Given the description of an element on the screen output the (x, y) to click on. 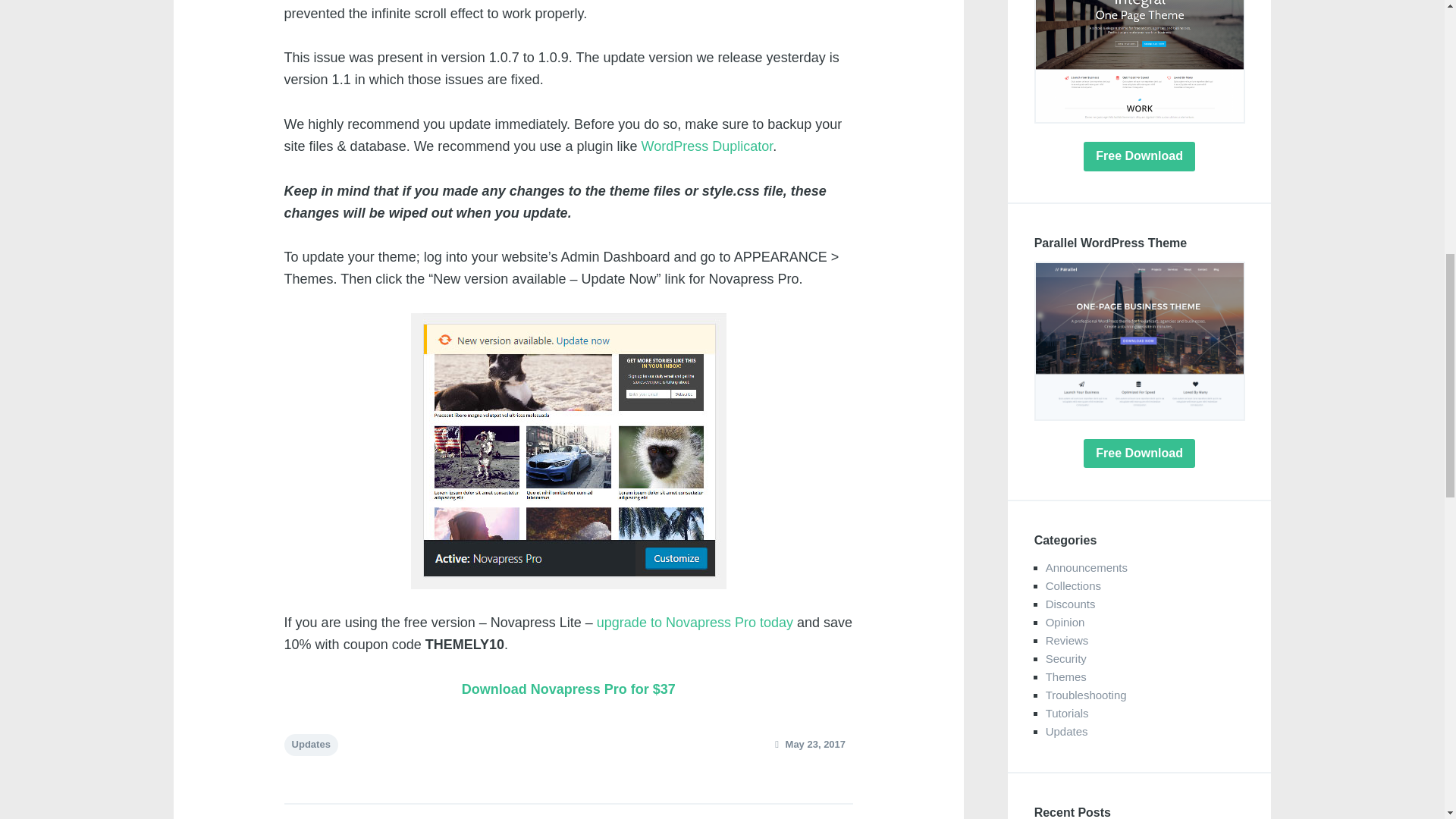
Troubleshooting (1085, 694)
Collections (1072, 585)
Themes (1065, 676)
Announcements (1085, 567)
Discounts (1070, 603)
Free Download (1139, 155)
WordPress Duplicator (707, 145)
Security (1065, 658)
upgrade to Novapress Pro today (694, 622)
Reviews (1067, 640)
Updates (310, 744)
Tutorials (1067, 712)
Opinion (1064, 621)
Updates (1066, 730)
Free Download (1139, 452)
